Given the description of an element on the screen output the (x, y) to click on. 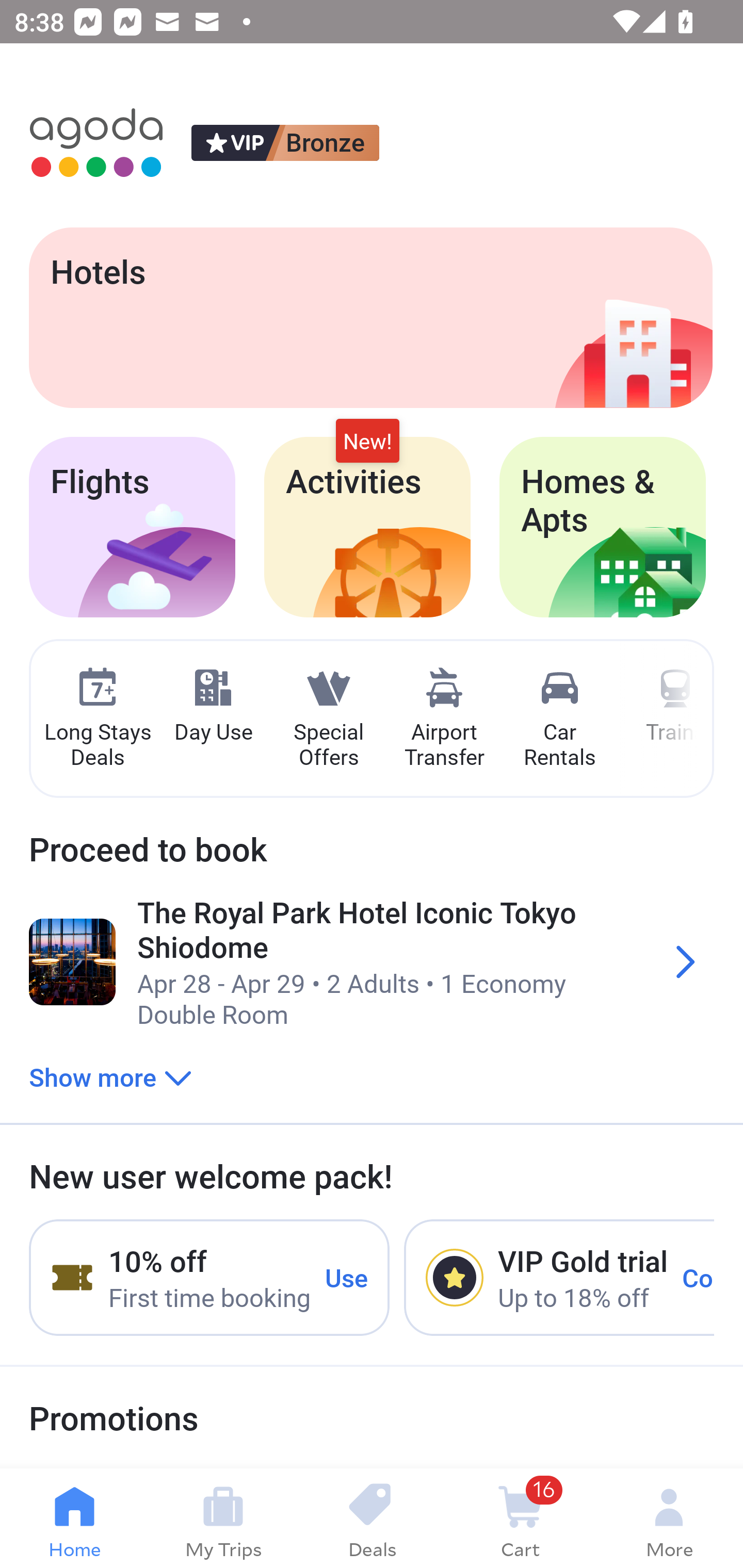
Hotels (370, 317)
New! (367, 441)
Flights (131, 527)
Activities (367, 527)
Homes & Apts (602, 527)
Day Use (213, 706)
Long Stays Deals (97, 718)
Special Offers (328, 718)
Airport Transfer (444, 718)
Car Rentals (559, 718)
Show more (110, 1076)
Use (346, 1277)
Home (74, 1518)
My Trips (222, 1518)
Deals (371, 1518)
16 Cart (519, 1518)
More (668, 1518)
